Given the description of an element on the screen output the (x, y) to click on. 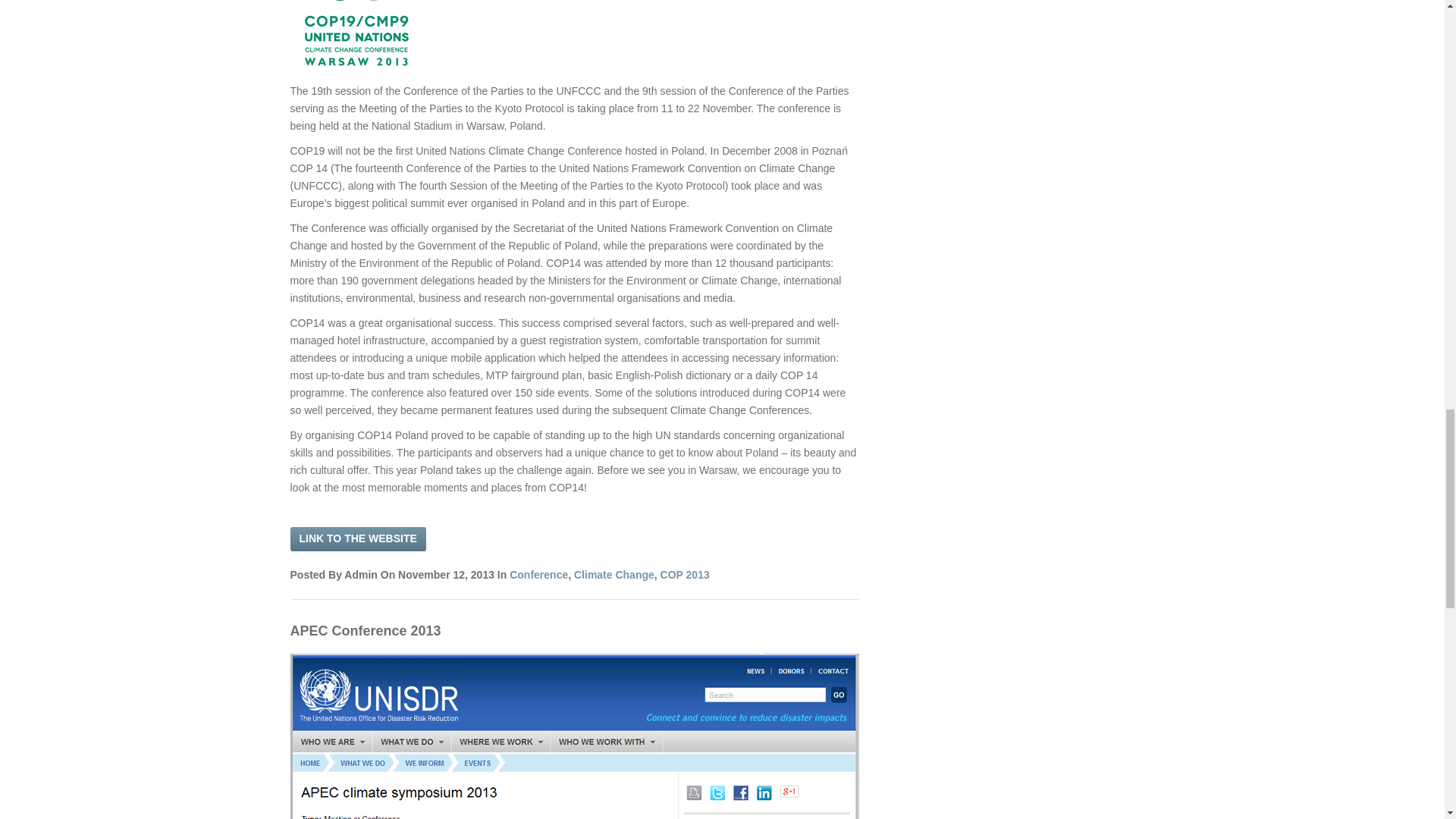
LINK TO THE WEBSITE (357, 539)
Climate Change (613, 574)
APEC Conference 2013 (365, 630)
COP 2013 (685, 574)
Conference (538, 574)
